Given the description of an element on the screen output the (x, y) to click on. 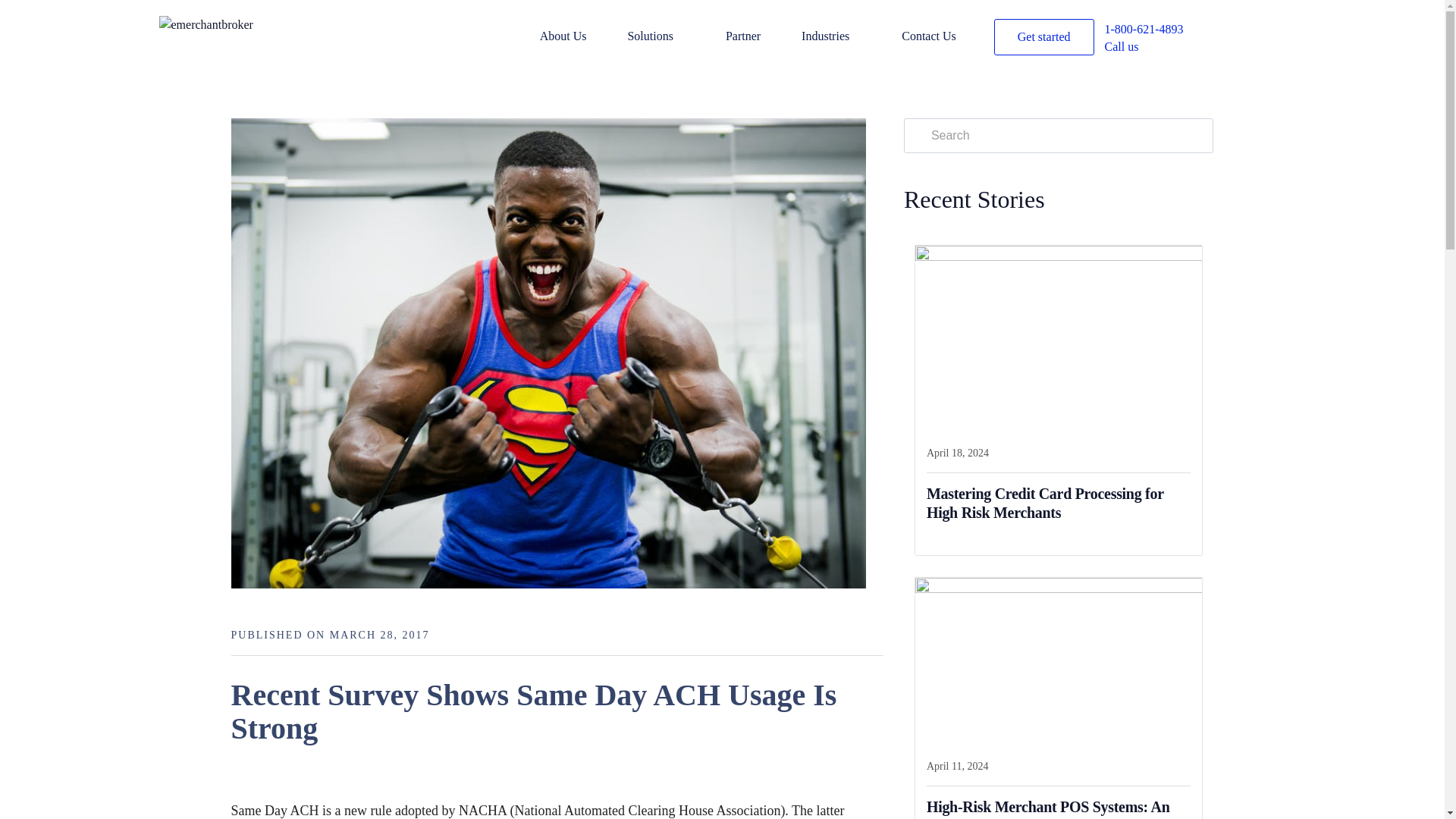
About Us (582, 37)
Partner (761, 37)
Industries (850, 37)
Solutions (674, 37)
